Given the description of an element on the screen output the (x, y) to click on. 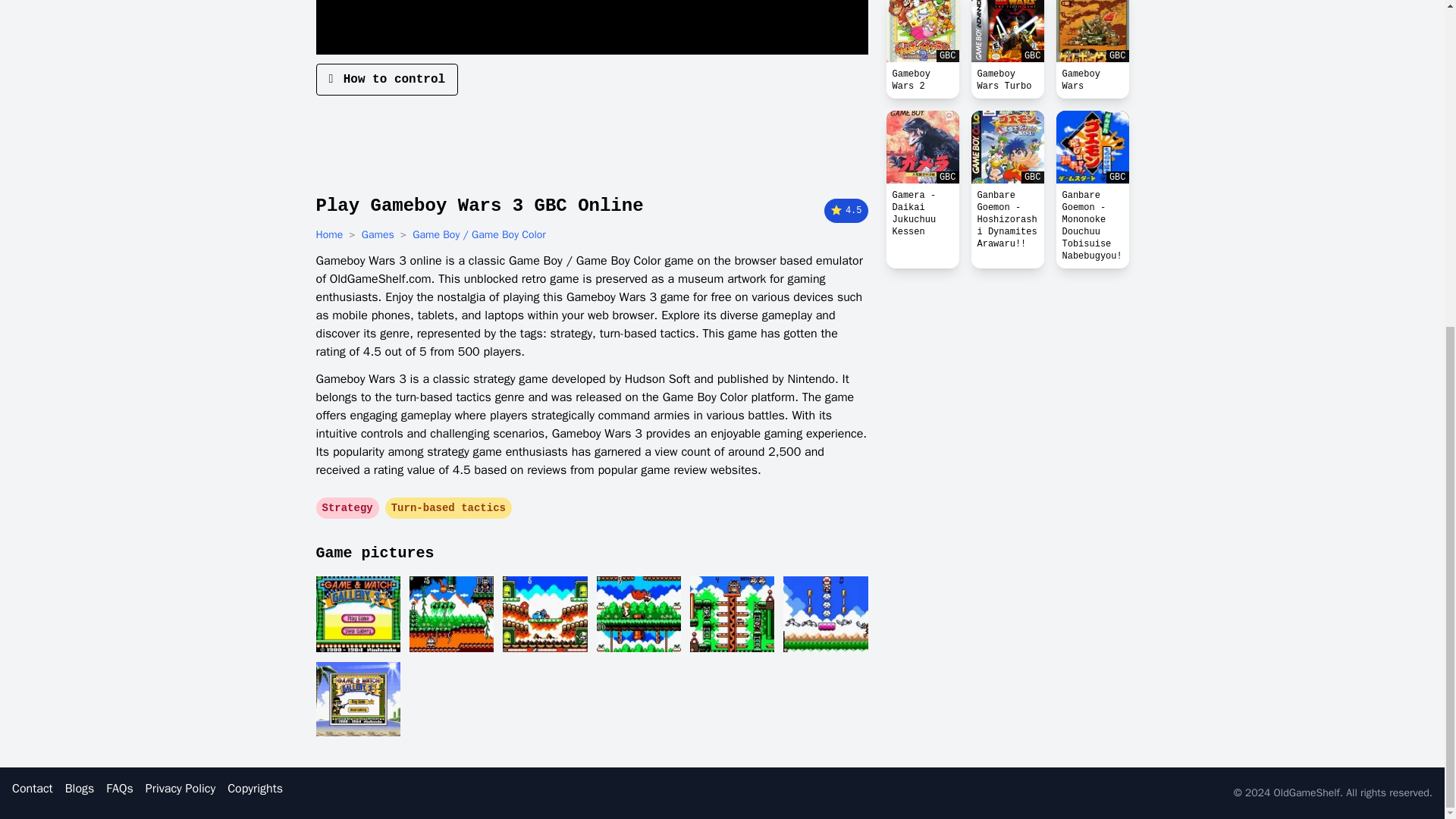
Gameboy Wars Turbo (1007, 80)
Strategy (346, 508)
GBC (1091, 146)
GBC (921, 146)
Turn-based tactics (448, 508)
GBC (1007, 146)
Gameboy Wars 3 game screenshot 3 (544, 613)
Home (328, 234)
Gamera - Daikai Jukuchuu Kessen (921, 213)
Ganbare Goemon - Hoshizorashi Dynamites Arawaru!! (1007, 219)
Gameboy Wars 3 game screenshot 5 (732, 613)
GBC (921, 31)
Contact (31, 788)
Gameboy Wars 2 (921, 80)
Gameboy Wars 3 game screenshot 1 (356, 613)
